Given the description of an element on the screen output the (x, y) to click on. 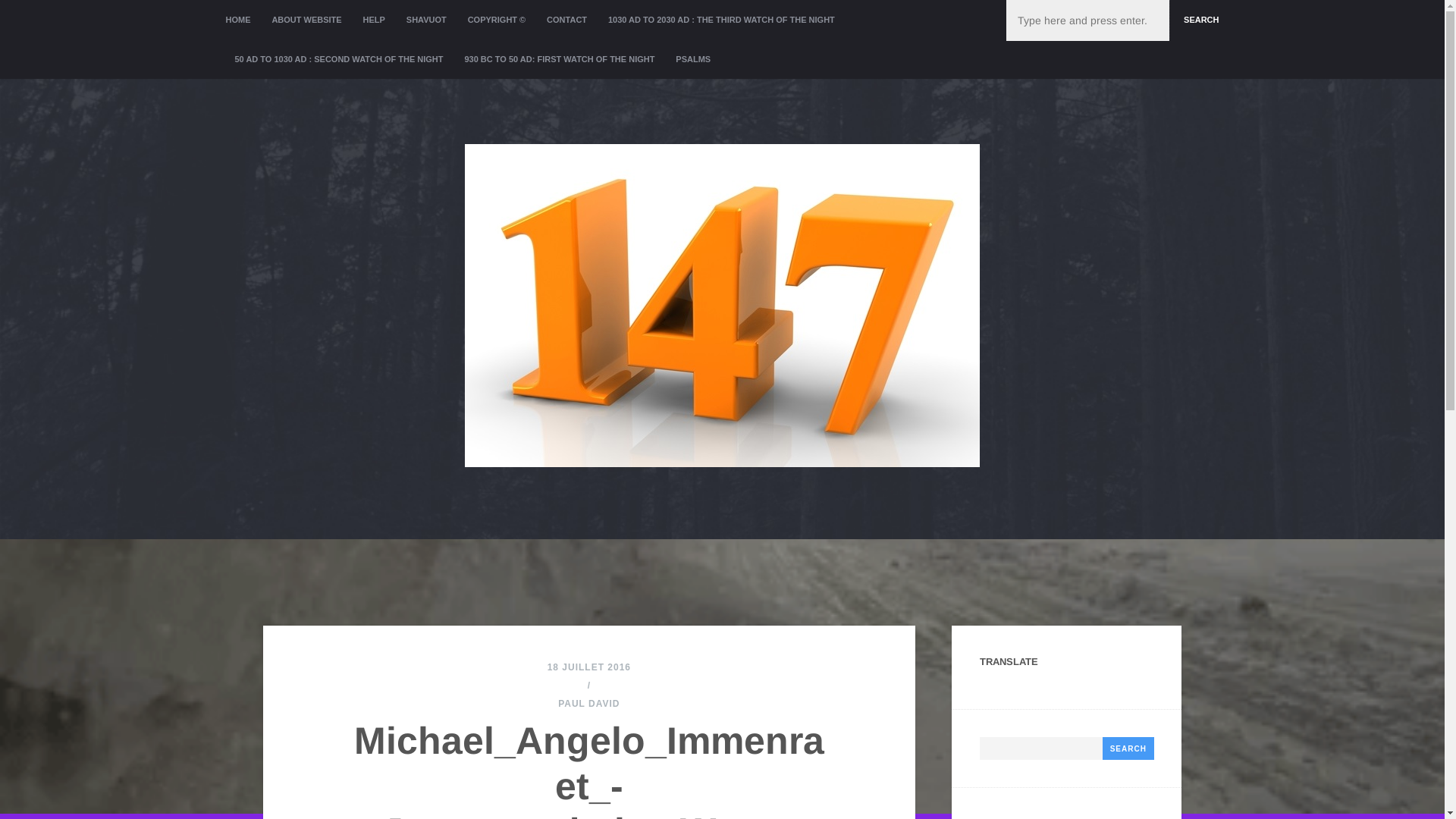
ABOUT WEBSITE Element type: text (306, 19)
HOME Element type: text (242, 19)
CONTACT Element type: text (566, 19)
PSALMS Element type: text (692, 58)
SHAVUOT Element type: text (426, 19)
50 AD TO 1030 AD : SECOND WATCH OF THE NIGHT Element type: text (338, 58)
PAUL DAVID Element type: text (588, 703)
HELP Element type: text (374, 19)
1030 AD TO 2030 AD : THE THIRD WATCH OF THE NIGHT Element type: text (721, 19)
SKIP TO CONTENT Element type: text (272, 19)
SEARCH Element type: text (1197, 19)
Search Element type: text (1128, 748)
930 BC TO 50 AD: FIRST WATCH OF THE NIGHT Element type: text (559, 58)
